Given the description of an element on the screen output the (x, y) to click on. 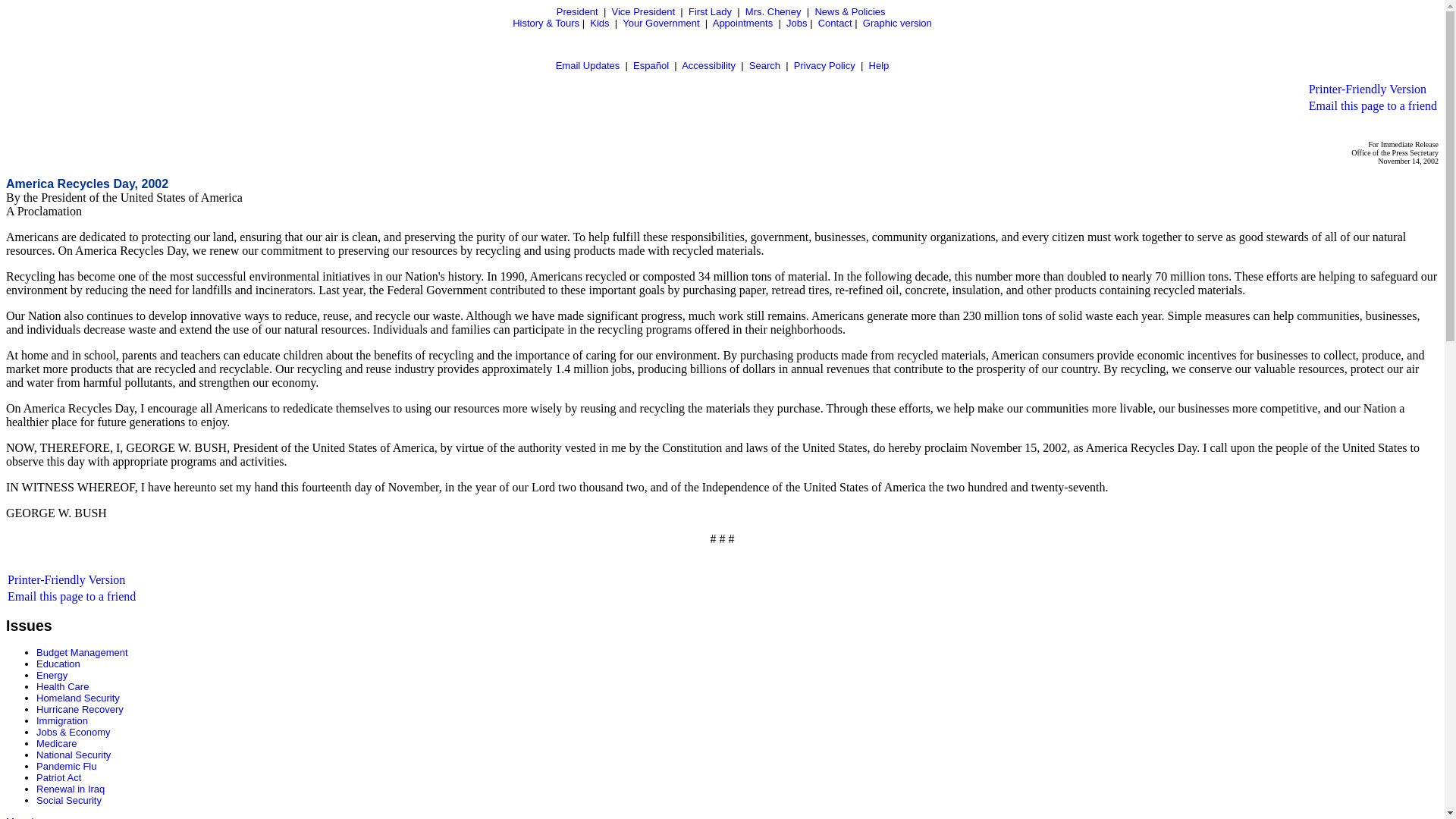
Pandemic Flu (66, 766)
Renewal in Iraq (70, 788)
Contact (834, 22)
Your Government (660, 22)
Graphic version (897, 22)
Patriot Act (58, 777)
President (577, 11)
Help (879, 65)
Education (58, 663)
Health Care (62, 686)
